Given the description of an element on the screen output the (x, y) to click on. 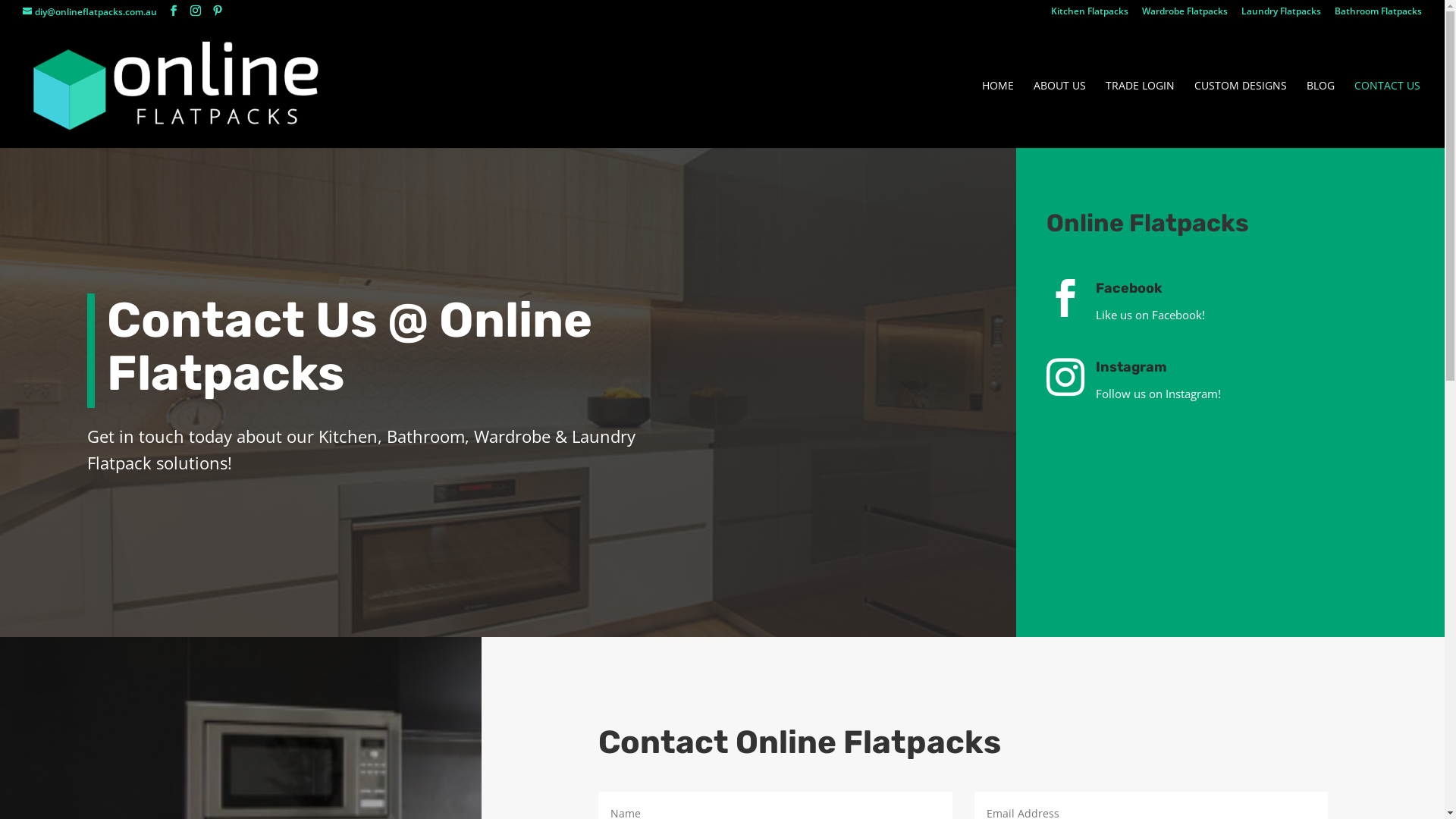
Instagram Element type: text (1130, 366)
Kitchen Flatpacks Element type: text (1089, 14)
HOME Element type: text (997, 113)
TRADE LOGIN Element type: text (1139, 113)
CONTACT US Element type: text (1387, 113)
Wardrobe Flatpacks Element type: text (1184, 14)
Facebook Element type: text (1128, 287)
diy@onlineflatpacks.com.au Element type: text (89, 11)
BLOG Element type: text (1320, 113)
Laundry Flatpacks Element type: text (1281, 14)
Bathroom Flatpacks Element type: text (1377, 14)
ABOUT US Element type: text (1059, 113)
CUSTOM DESIGNS Element type: text (1240, 113)
